Given the description of an element on the screen output the (x, y) to click on. 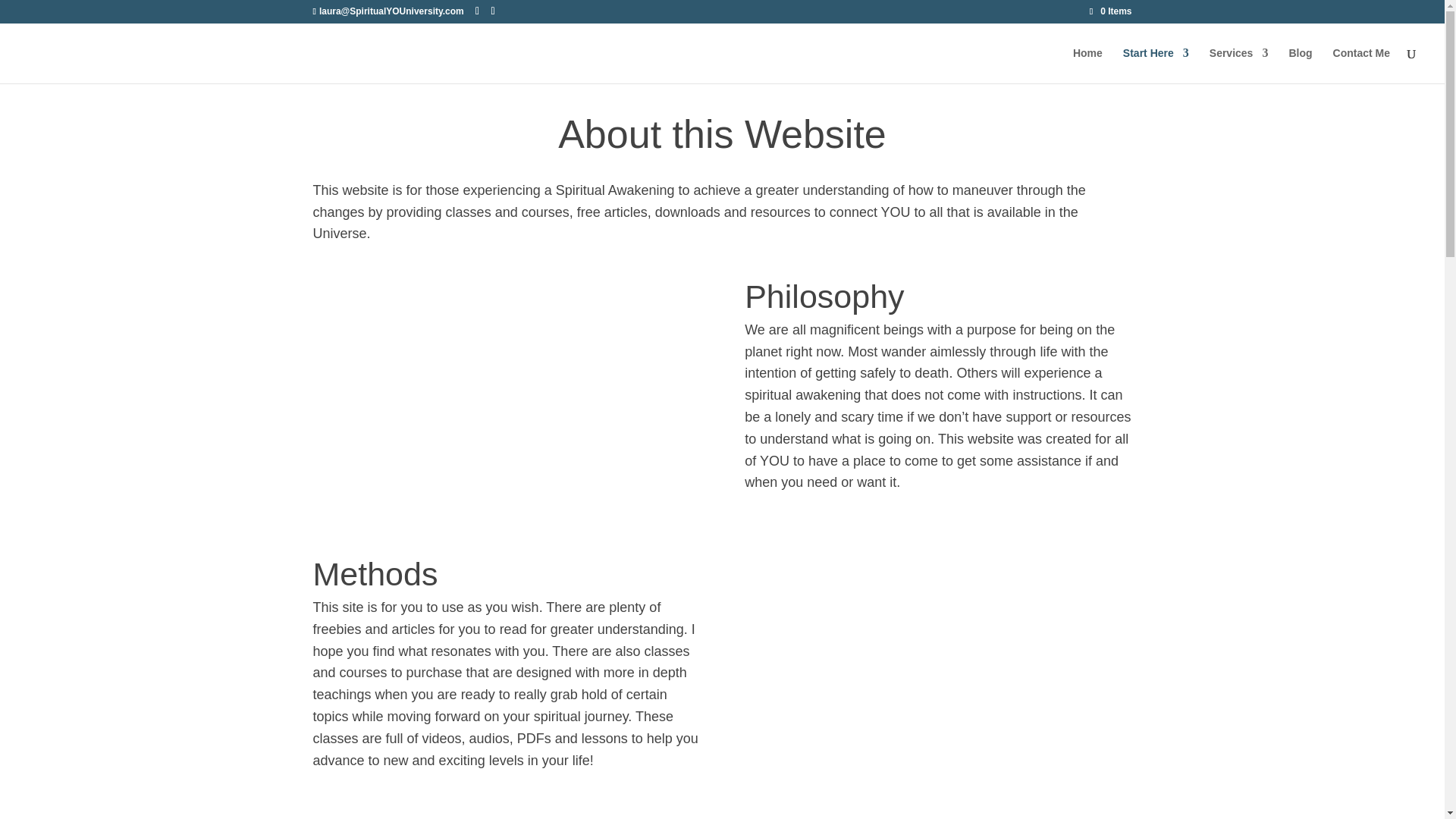
0 Items (1110, 10)
Start Here (1155, 65)
Services (1238, 65)
Contact Me (1361, 65)
